Given the description of an element on the screen output the (x, y) to click on. 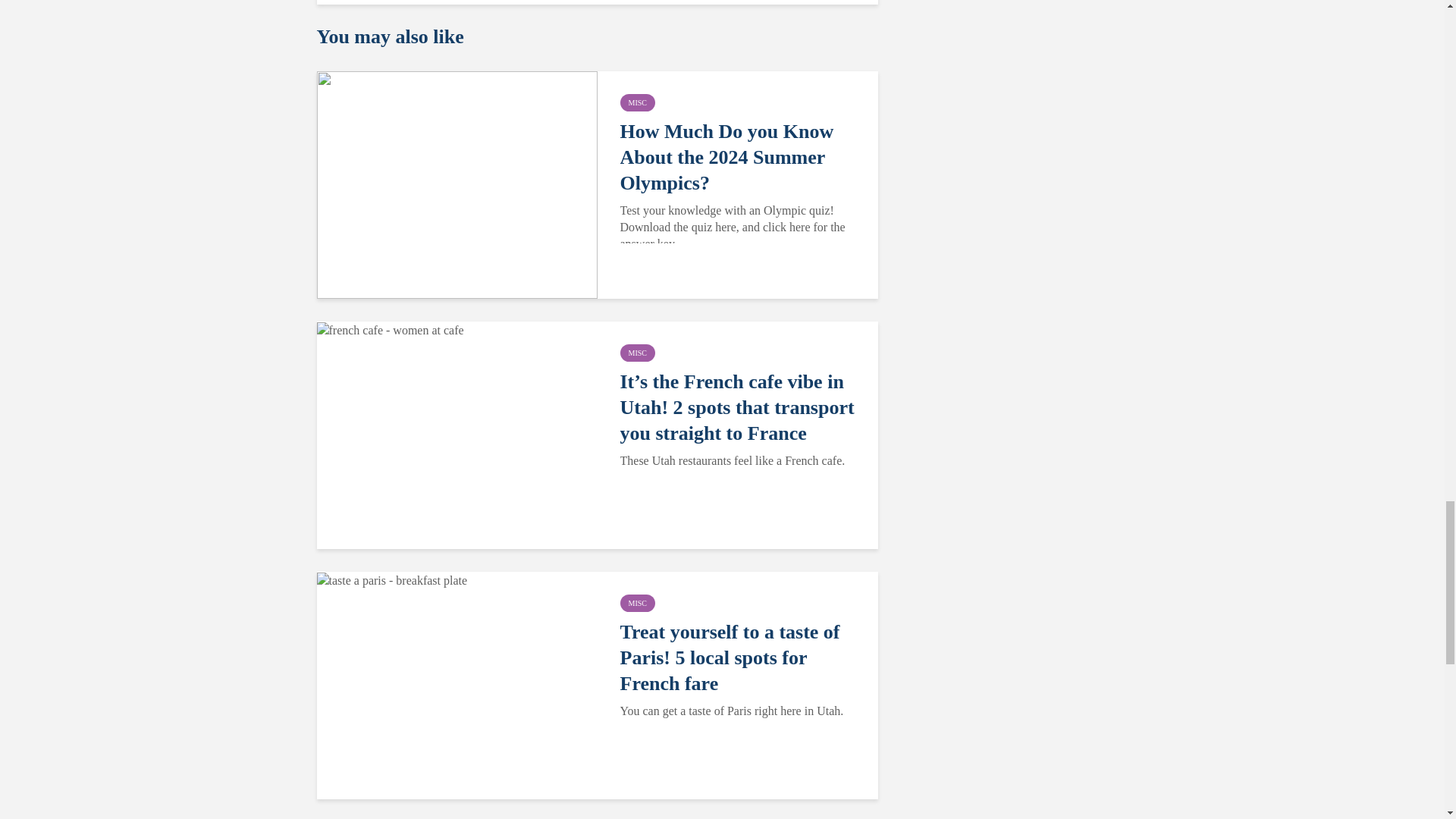
How Much Do you Know About the 2024 Summer Olympics? (456, 183)
